Given the description of an element on the screen output the (x, y) to click on. 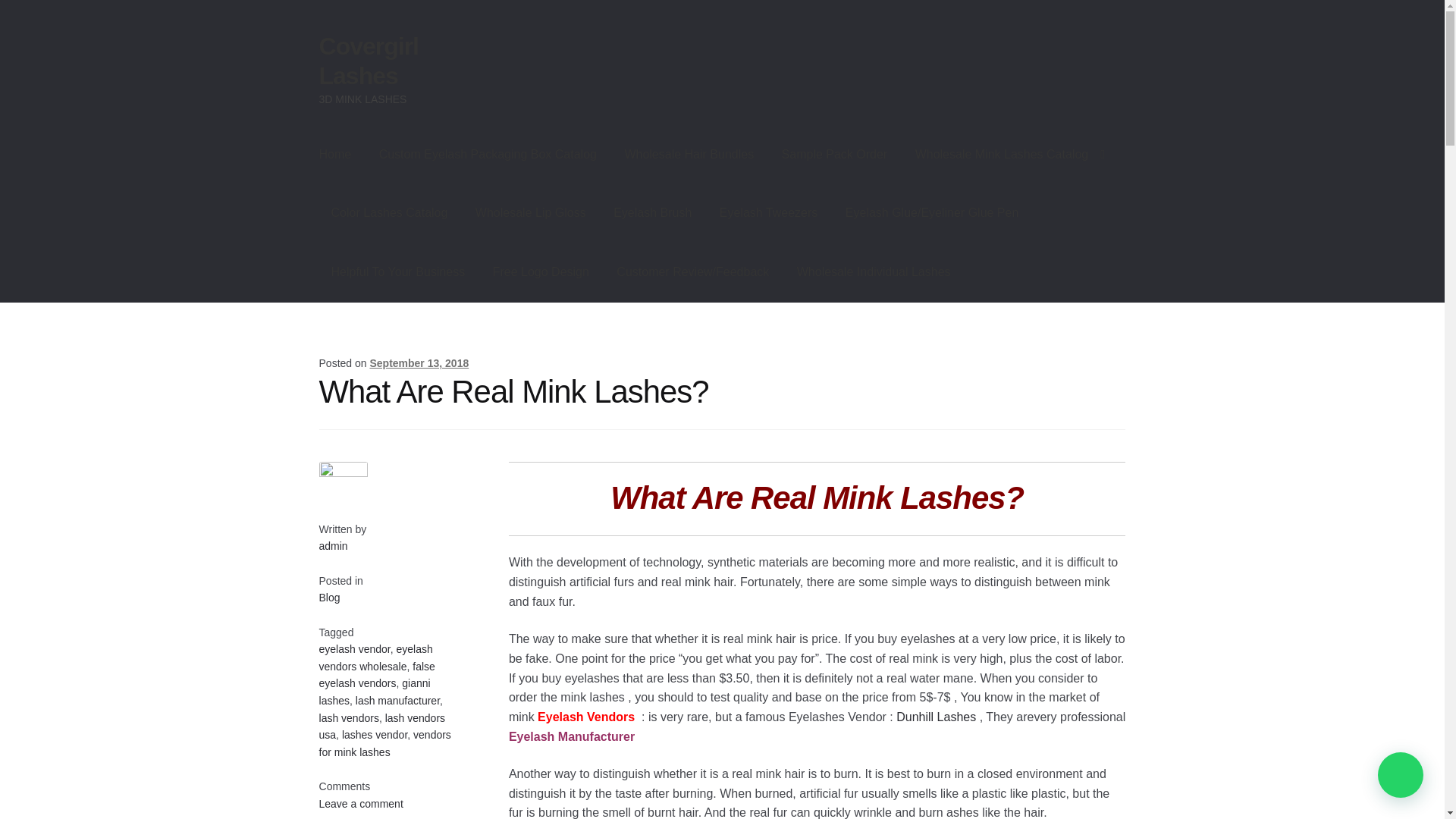
Free Logo Design (540, 272)
Wholesale Individual Lashes (873, 272)
Wholesale Mink Lashes Catalog (1009, 154)
Wholesale Lip Gloss (530, 212)
Wholesale Hair Bundles (688, 154)
Covergirl Lashes (368, 60)
Color Lashes Catalog (389, 212)
Home (335, 154)
Eyelash Tweezers (768, 212)
Helpful To Your Business (397, 272)
Sample Pack Order (834, 154)
Custom Eyelash Packaging Box Catalog (487, 154)
Eyelash Brush (652, 212)
